Given the description of an element on the screen output the (x, y) to click on. 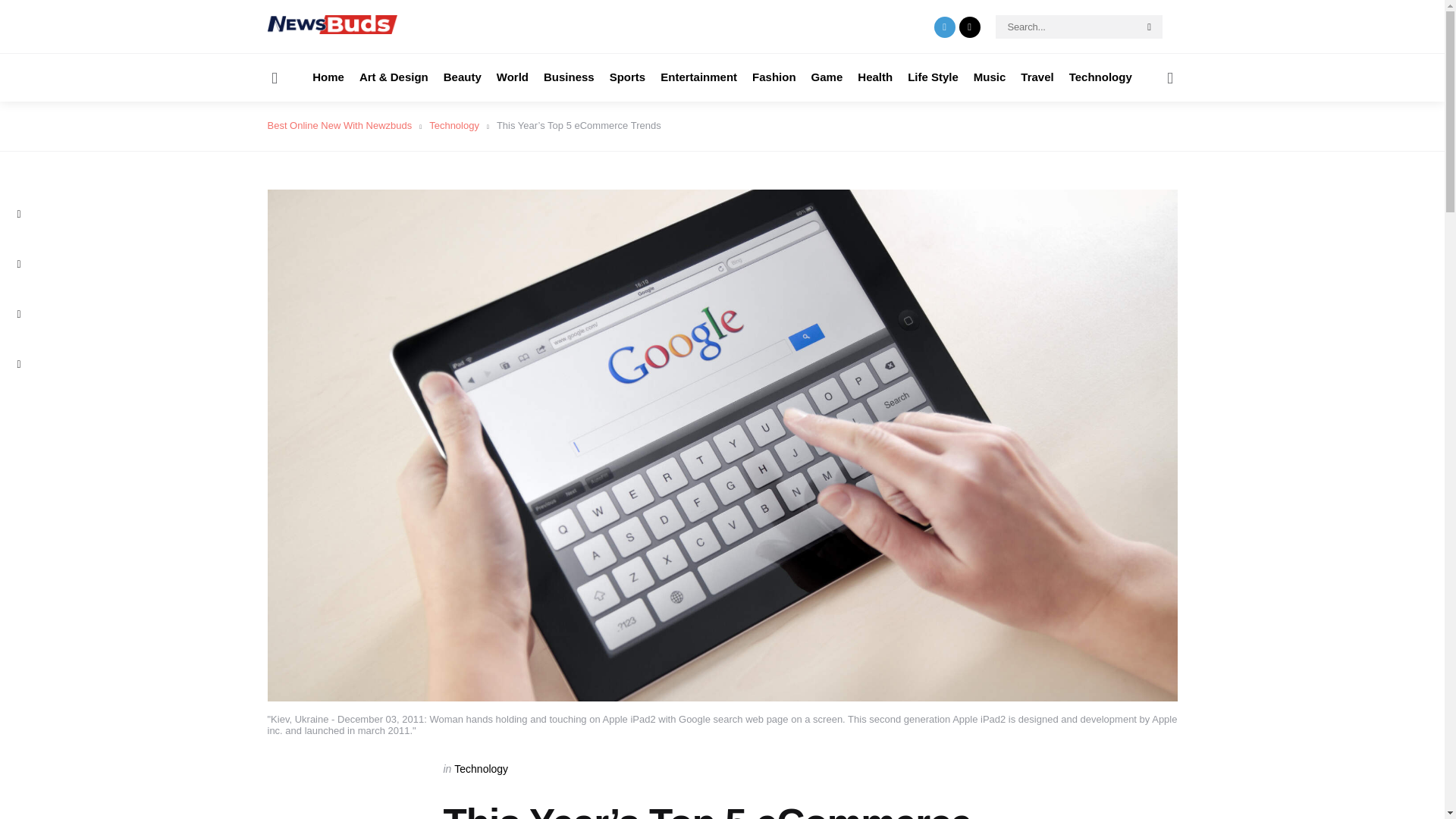
Go to Best Online New With Newzbuds. (339, 125)
Beauty (462, 77)
Home (328, 77)
Business (568, 77)
Search (1149, 26)
World (512, 77)
Go to the Technology Category archives. (454, 125)
